Given the description of an element on the screen output the (x, y) to click on. 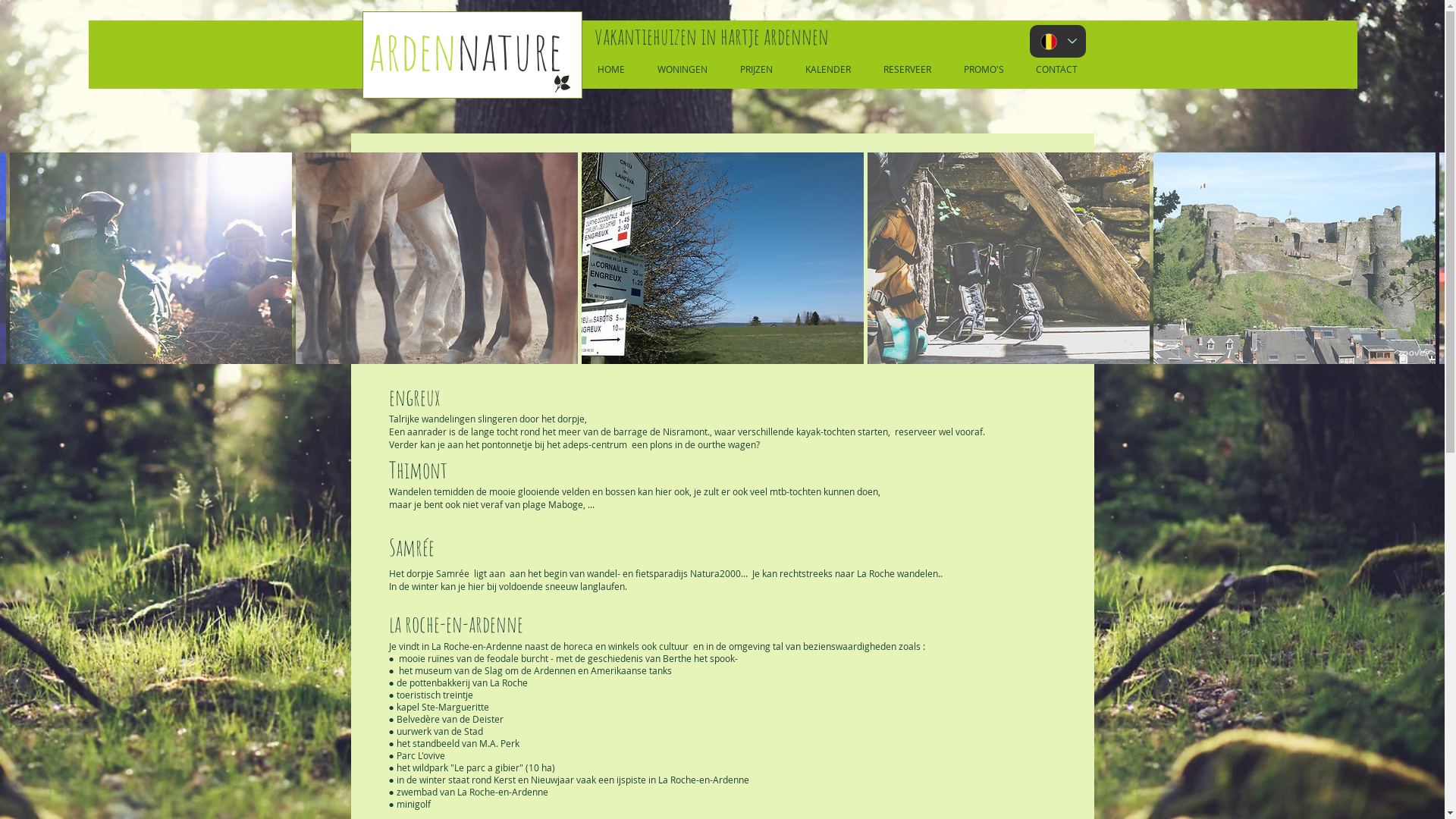
ardennature Element type: text (464, 49)
RESERVEER Element type: text (907, 68)
WONINGEN Element type: text (682, 68)
KALENDER Element type: text (827, 68)
PROMO'S Element type: text (983, 68)
PRIJZEN Element type: text (755, 68)
HOME Element type: text (610, 68)
CONTACT Element type: text (1055, 68)
